Given the description of an element on the screen output the (x, y) to click on. 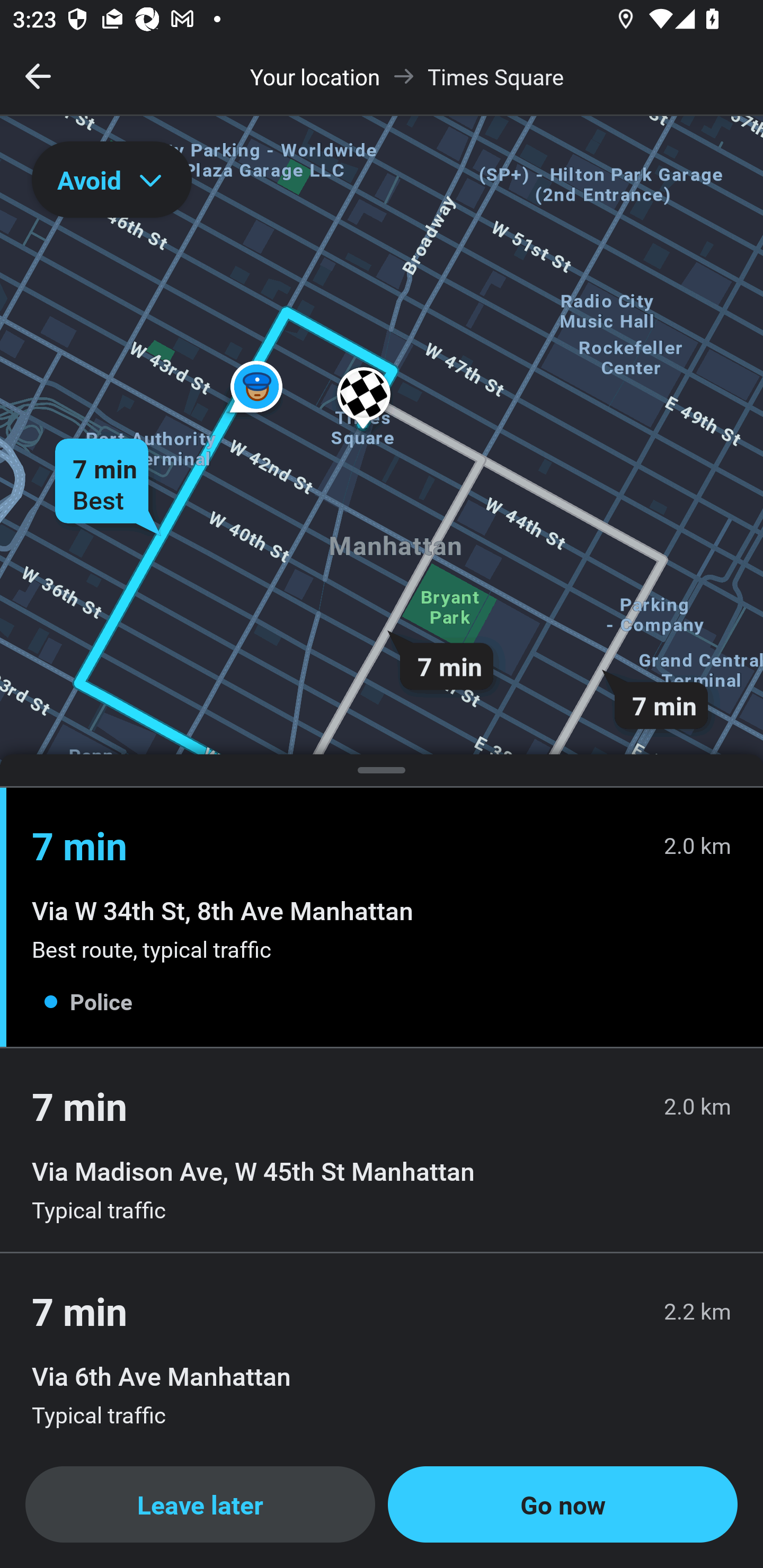
Leave later (200, 1504)
Go now (562, 1504)
